Given the description of an element on the screen output the (x, y) to click on. 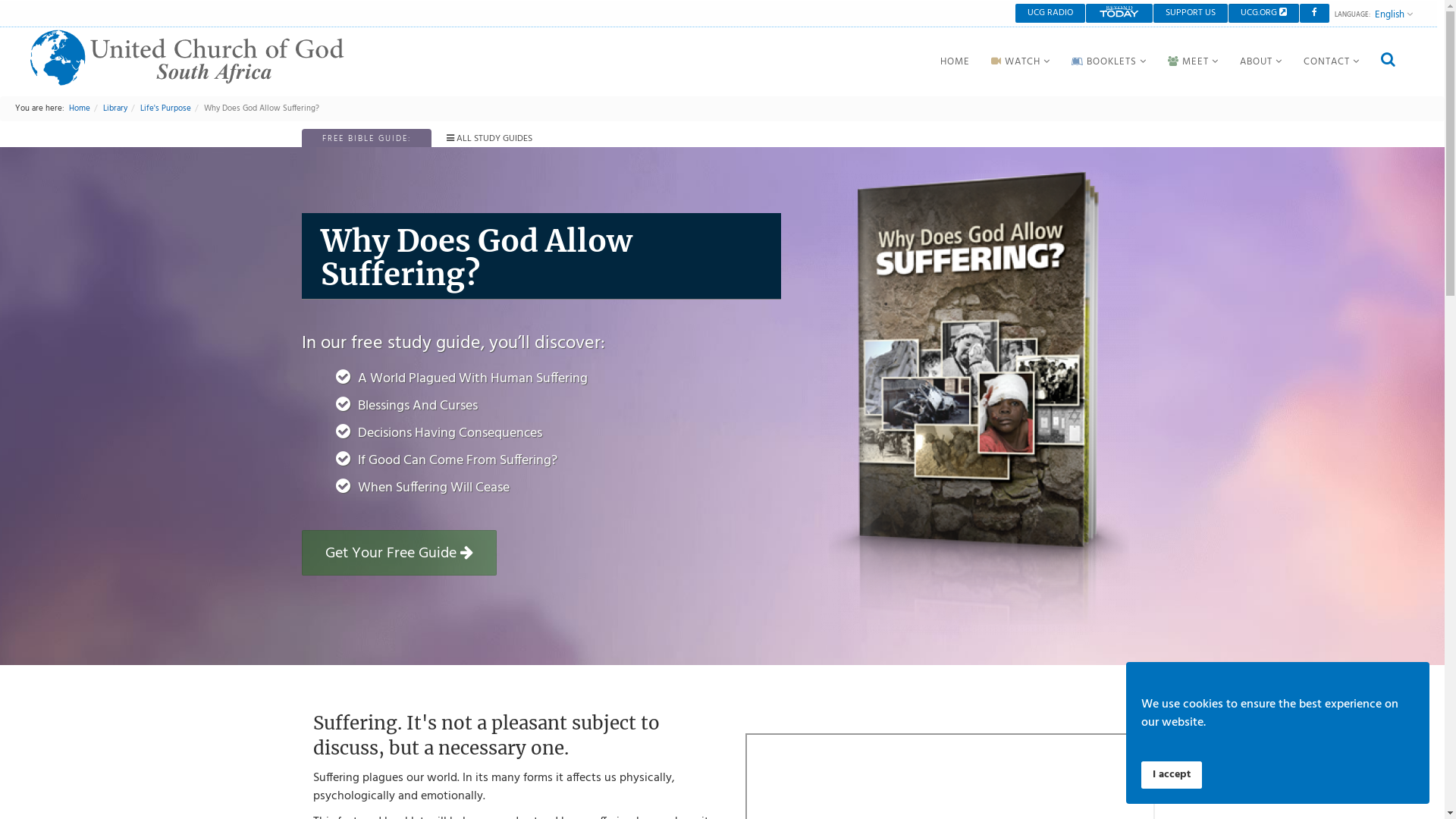
Get Your Free Guide Element type: text (398, 552)
Home Element type: text (79, 108)
ABOUT Element type: text (1260, 61)
MEET Element type: text (1193, 61)
SUPPORT US Element type: text (1190, 12)
I accept Element type: text (1171, 774)
UCG RADIO Element type: text (1050, 12)
English  Element type: text (1393, 13)
Life's Purpose Element type: text (165, 108)
WATCH Element type: text (1020, 61)
BOOKLETS Element type: text (1108, 61)
CONTACT Element type: text (1331, 61)
UCG.ORG Element type: text (1263, 12)
Library Element type: text (115, 108)
HOME Element type: text (954, 62)
